Given the description of an element on the screen output the (x, y) to click on. 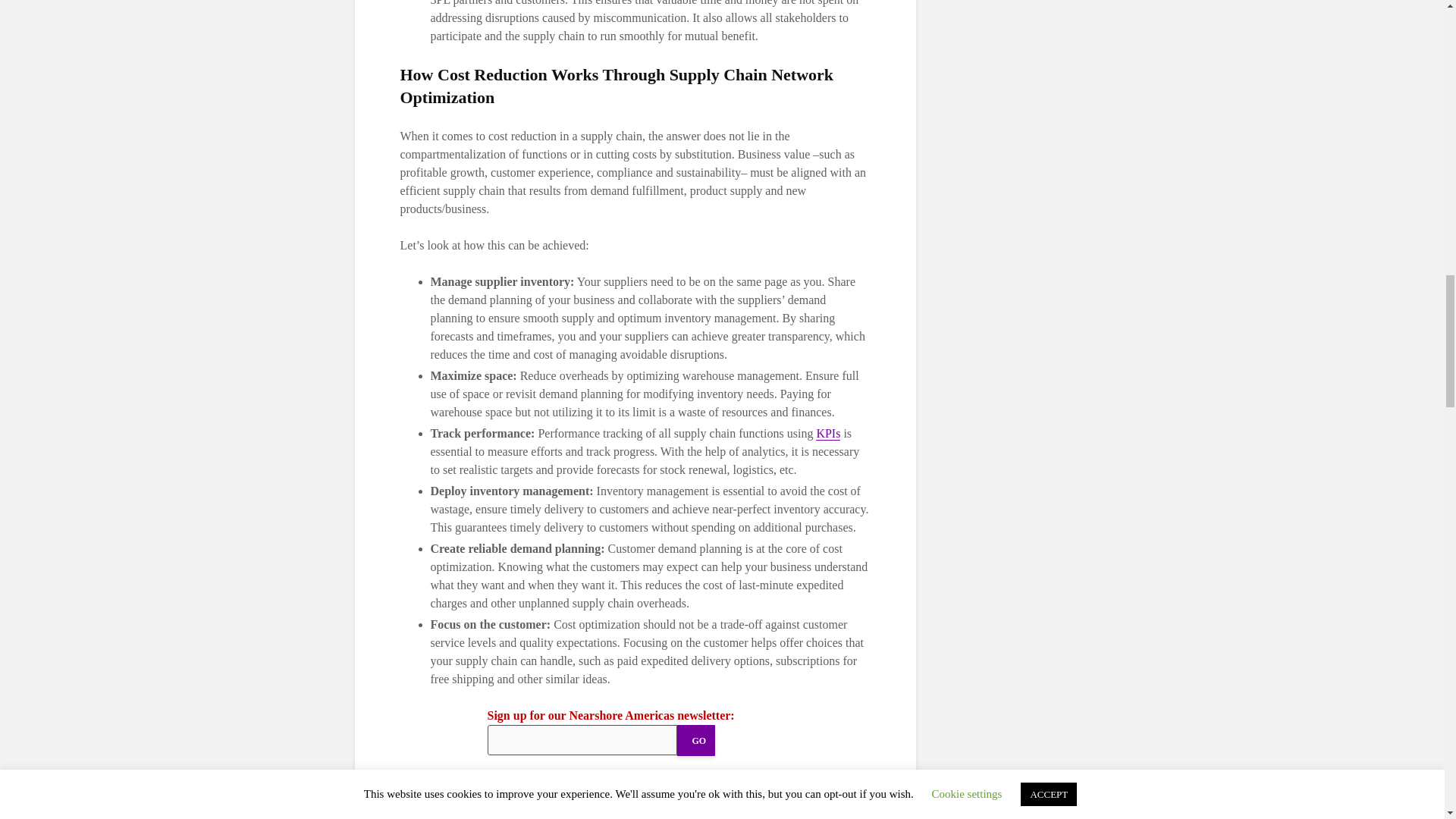
Go (695, 739)
Go (695, 739)
KPIs (827, 433)
